Given the description of an element on the screen output the (x, y) to click on. 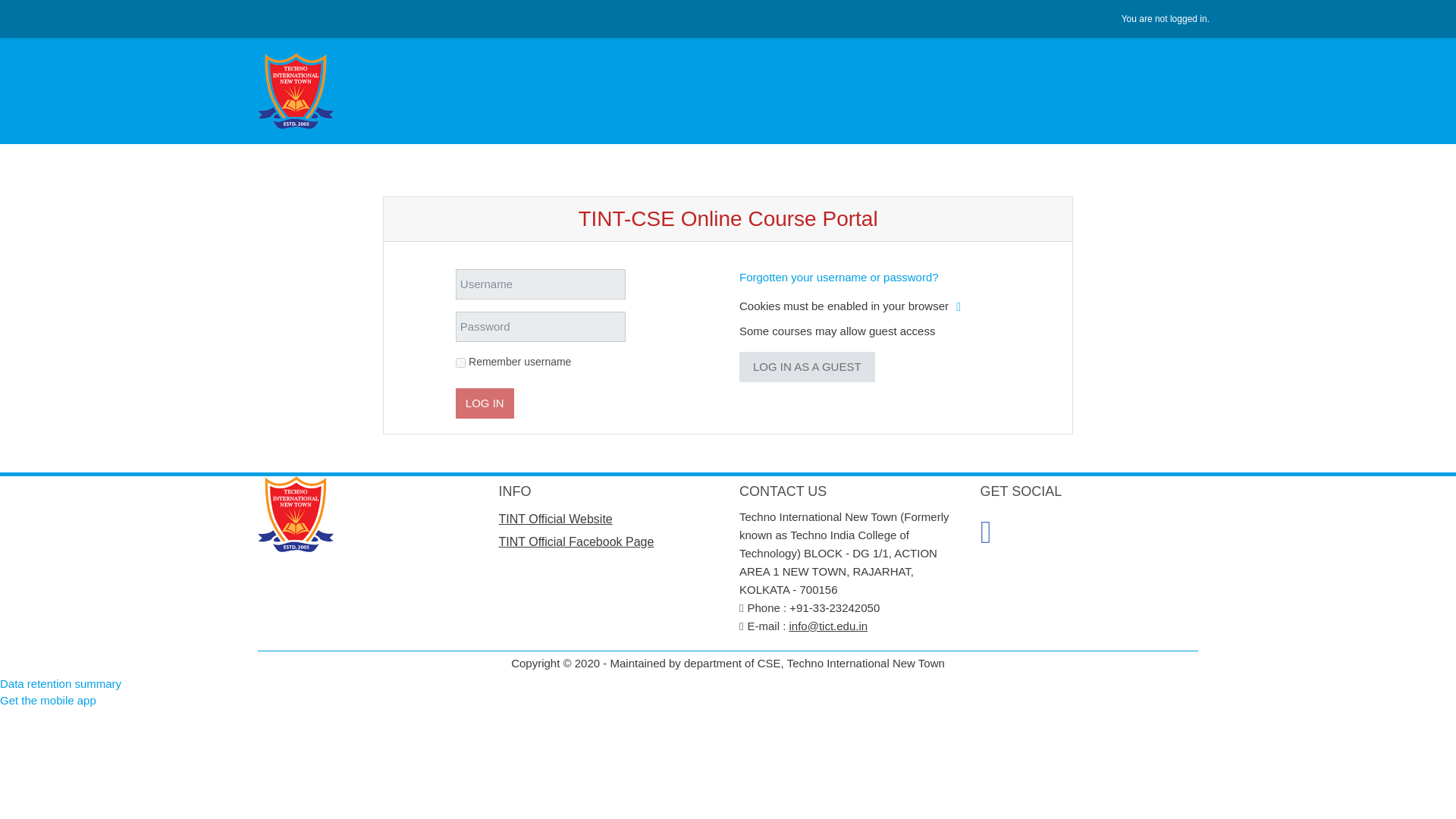
TINT Official Facebook Page (576, 541)
LOG IN (484, 403)
Get the mobile app (48, 699)
TINT Official Website (555, 519)
Data retention summary (60, 683)
Forgotten your username or password? (839, 277)
LOG IN AS A GUEST (807, 367)
1 (460, 362)
Help with Cookies must be enabled in your browser (957, 306)
